Given the description of an element on the screen output the (x, y) to click on. 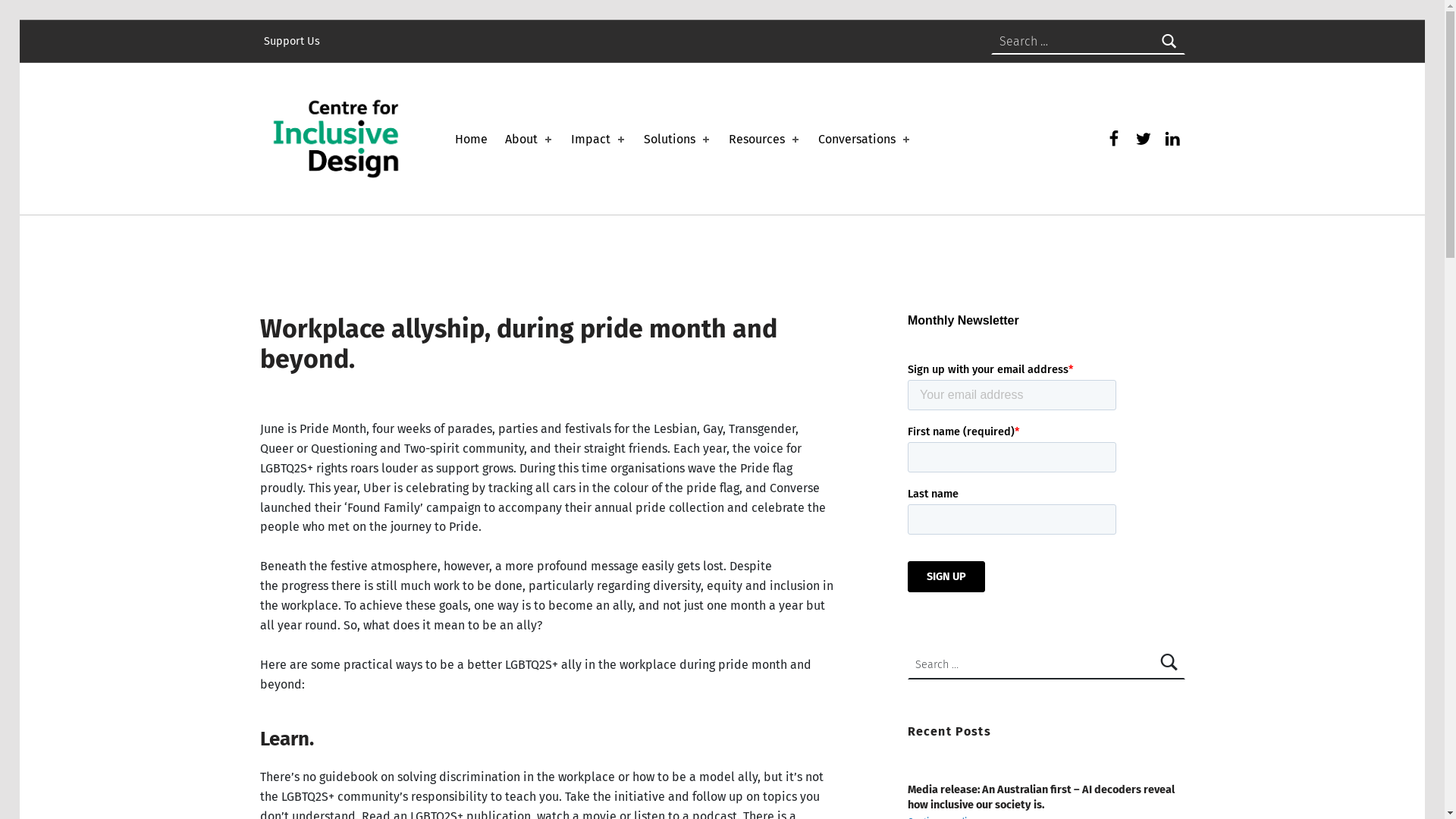
About Element type: text (528, 139)
CfID on Twitter Element type: text (1143, 138)
CFID on LinkedIn Element type: text (1172, 138)
Skip to main navigation Element type: text (59, 17)
Solutions Element type: text (677, 139)
Form 0 Element type: hover (1045, 459)
Resources Element type: text (765, 139)
Search Element type: text (1169, 664)
Centre for Inclusive Design Element type: text (417, 71)
Conversations Element type: text (864, 139)
Home Element type: text (471, 139)
Support Us Element type: text (291, 41)
Search Element type: text (1169, 41)
Impact Element type: text (598, 139)
CfID on Facebook Element type: text (1113, 138)
